Given the description of an element on the screen output the (x, y) to click on. 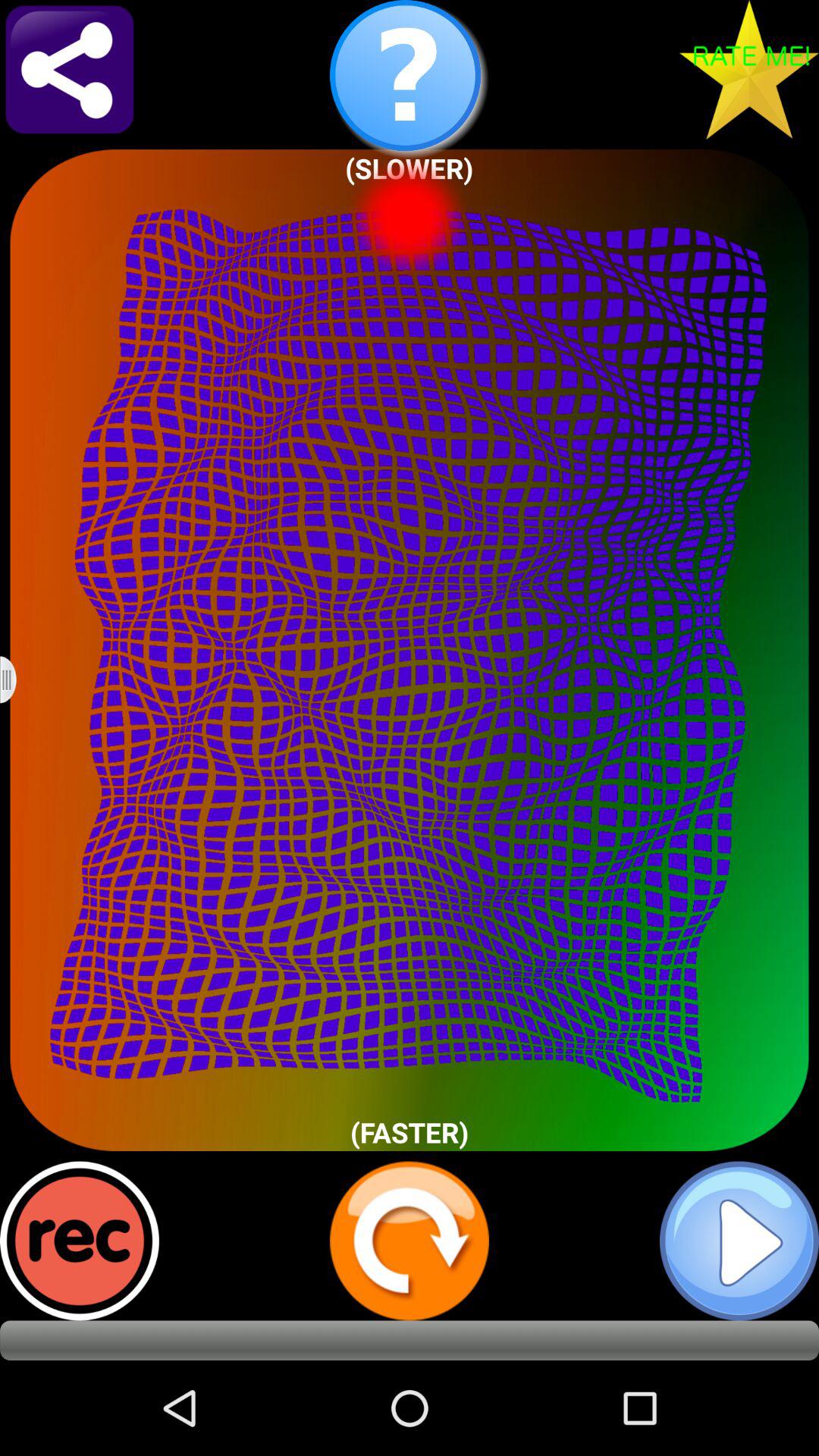
record (79, 1240)
